Given the description of an element on the screen output the (x, y) to click on. 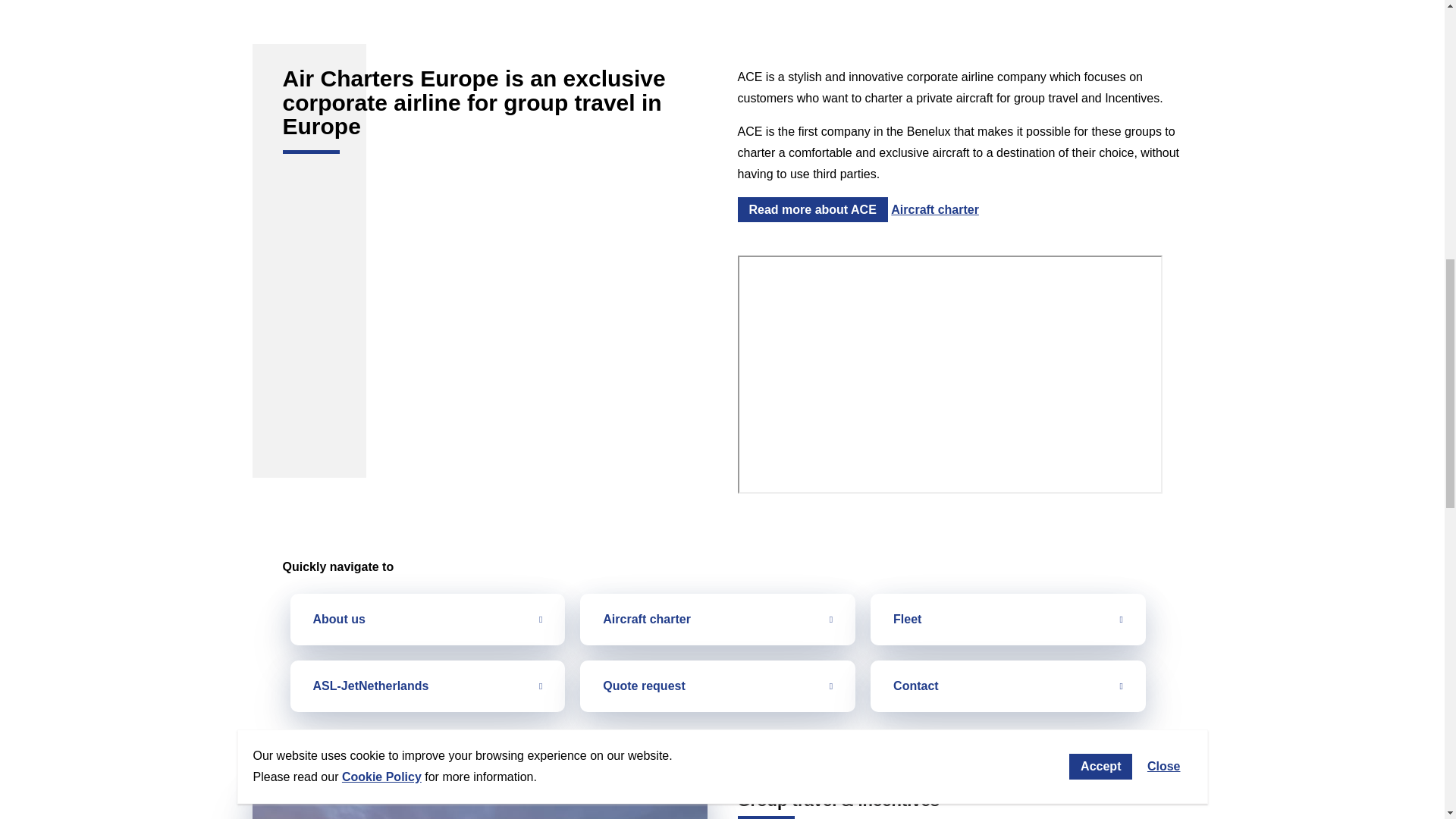
About us (426, 619)
Aircraft charter (934, 209)
Read more about ACE (811, 209)
Aircraft charter (717, 619)
